Given the description of an element on the screen output the (x, y) to click on. 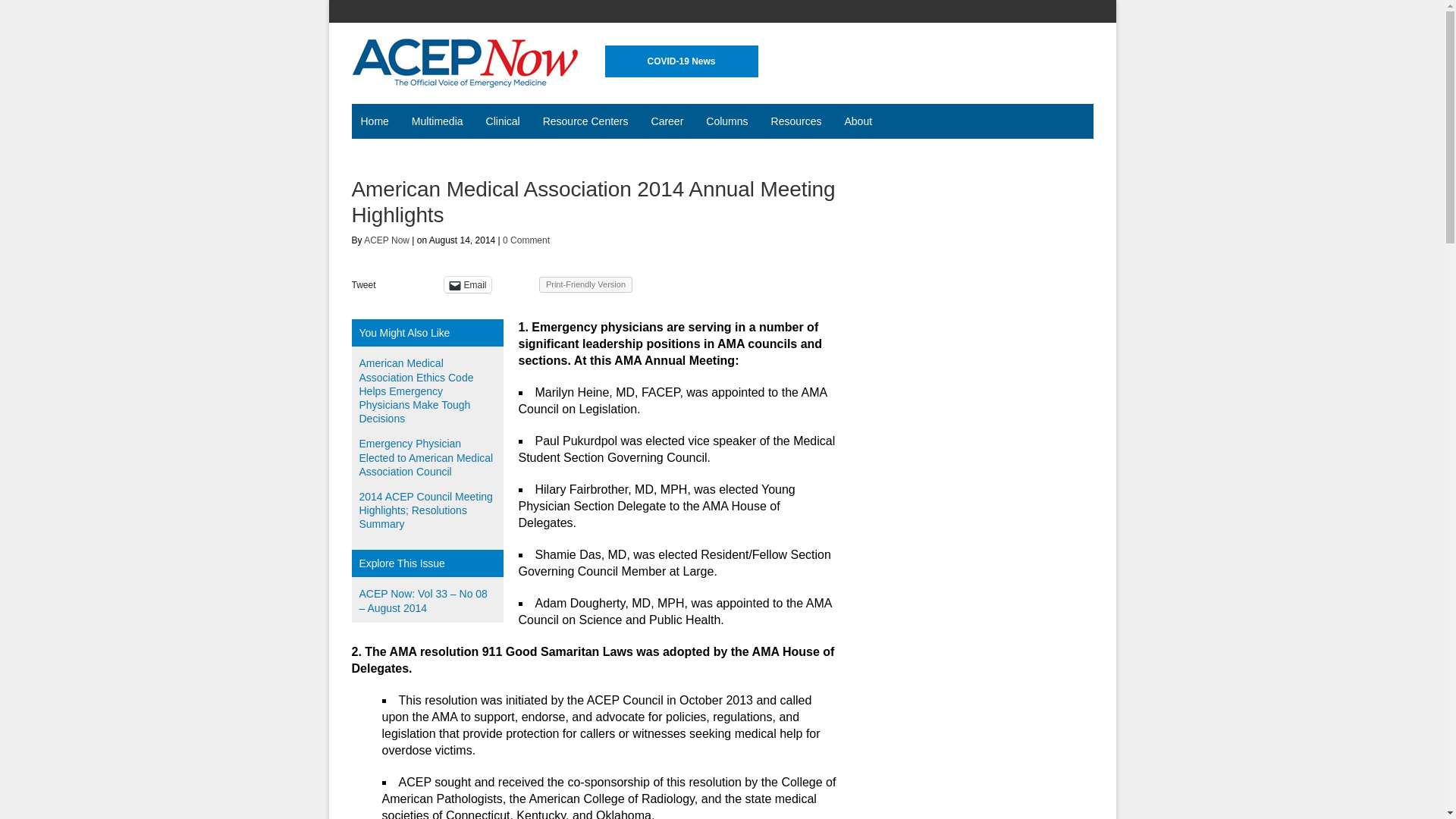
Posts by ACEP Now (386, 240)
Home (377, 121)
Career (669, 121)
Multimedia (440, 121)
Click to email a link to a friend (468, 284)
Clinical (505, 121)
Resource Centers (588, 121)
COVID-19 News (681, 60)
